Given the description of an element on the screen output the (x, y) to click on. 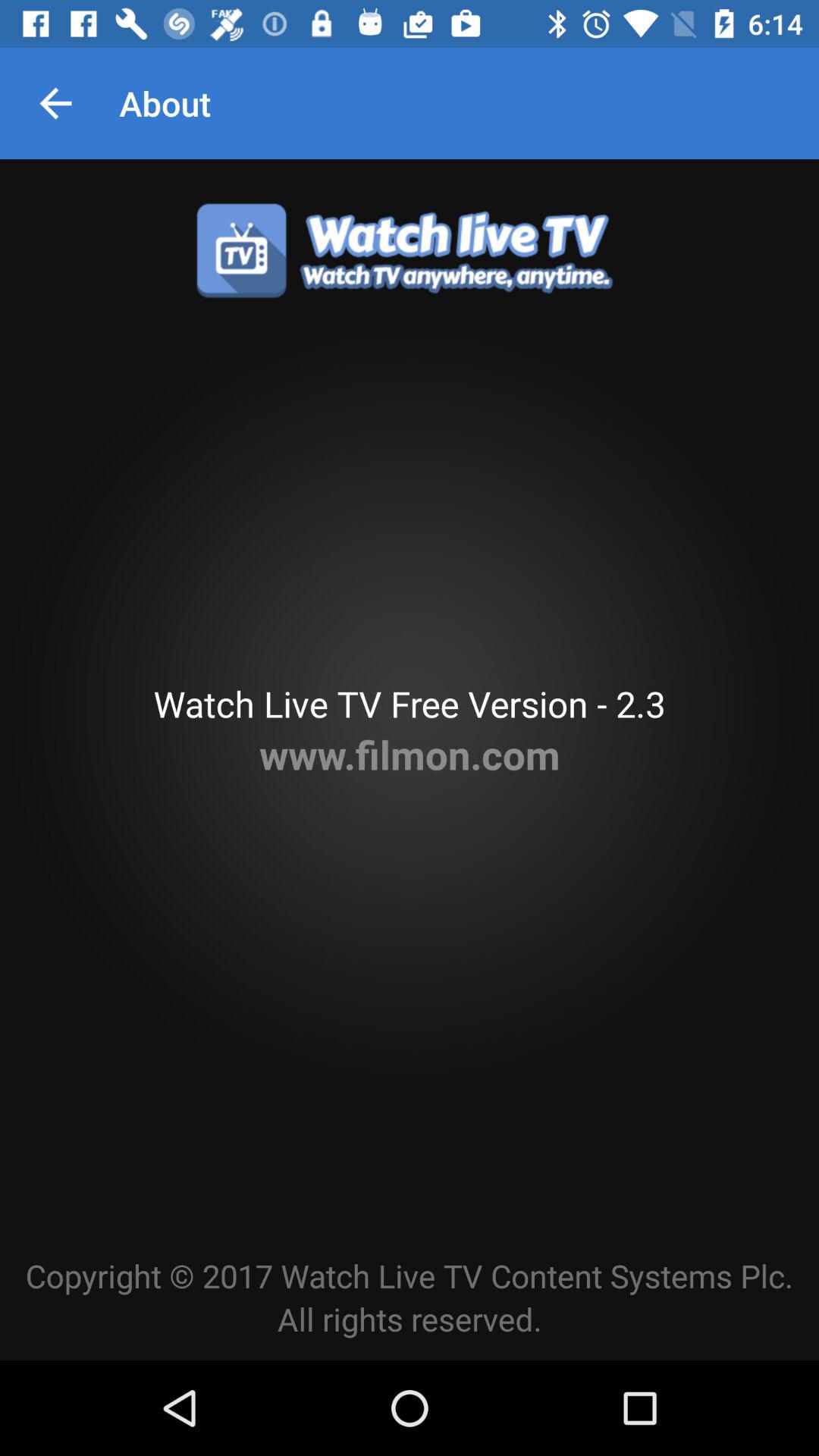
scroll to www.filmon.com (409, 754)
